Given the description of an element on the screen output the (x, y) to click on. 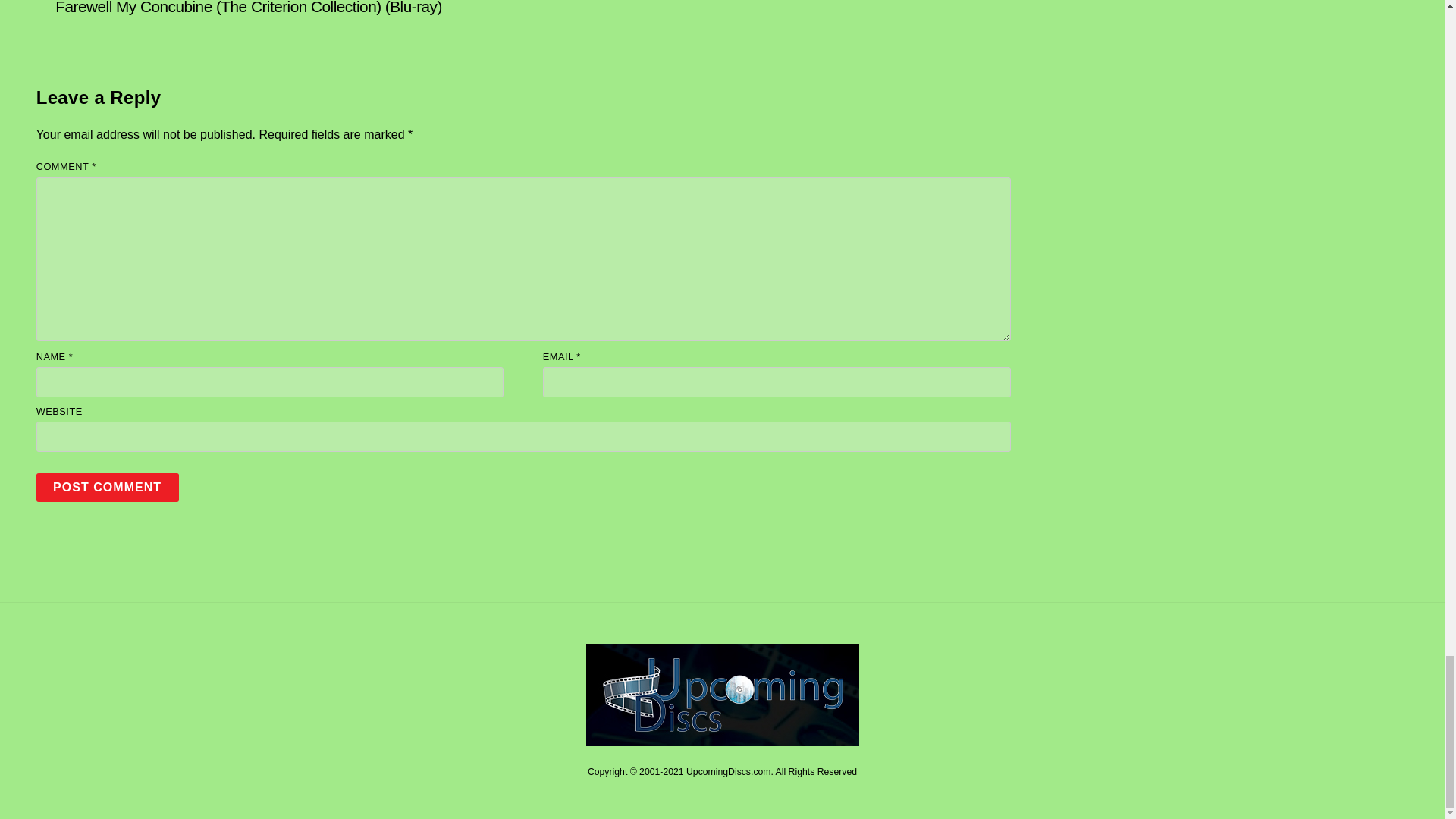
Post Comment (107, 487)
UpcomingDiscs.com (722, 740)
